Given the description of an element on the screen output the (x, y) to click on. 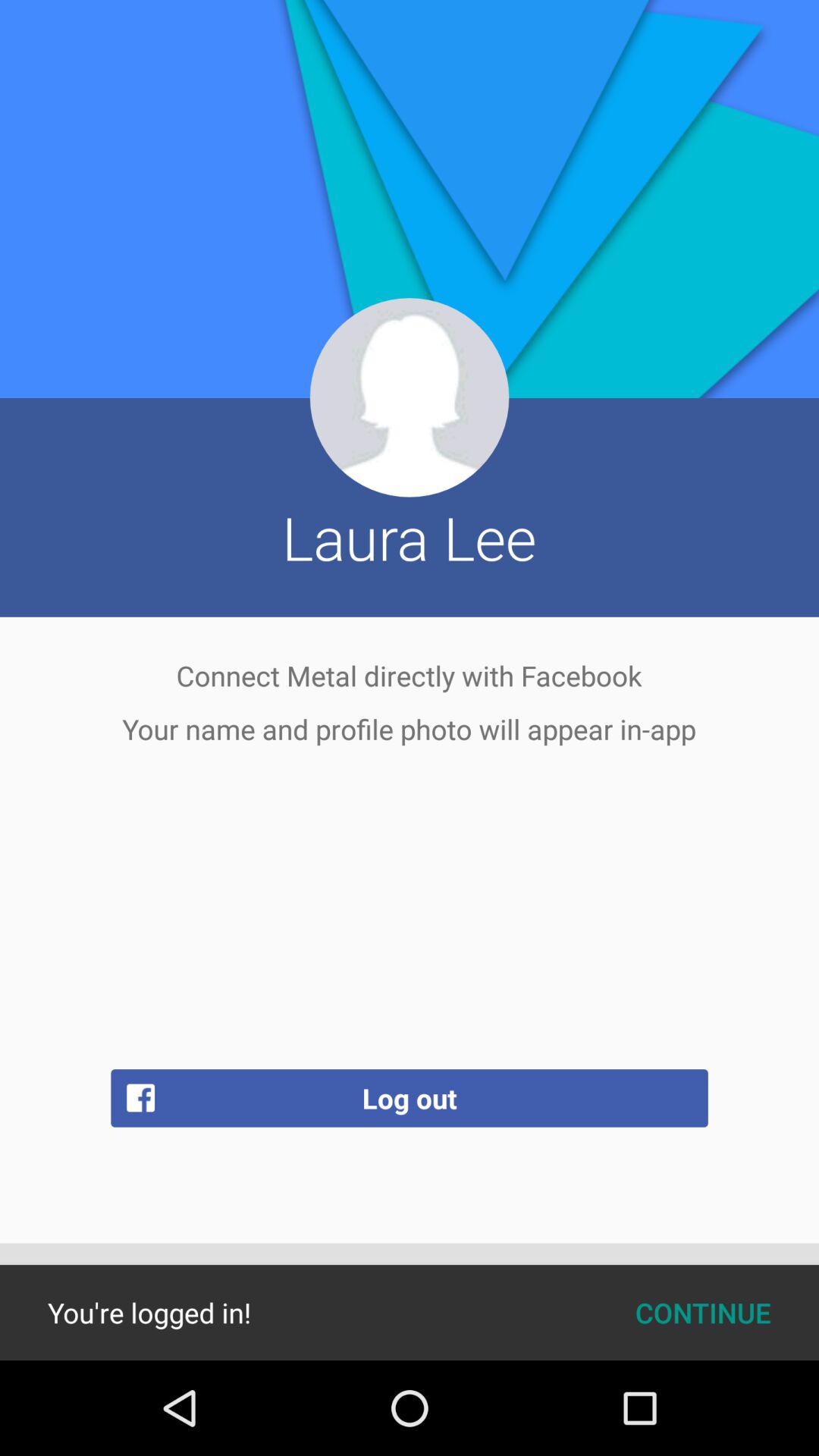
open the log out (409, 1098)
